Given the description of an element on the screen output the (x, y) to click on. 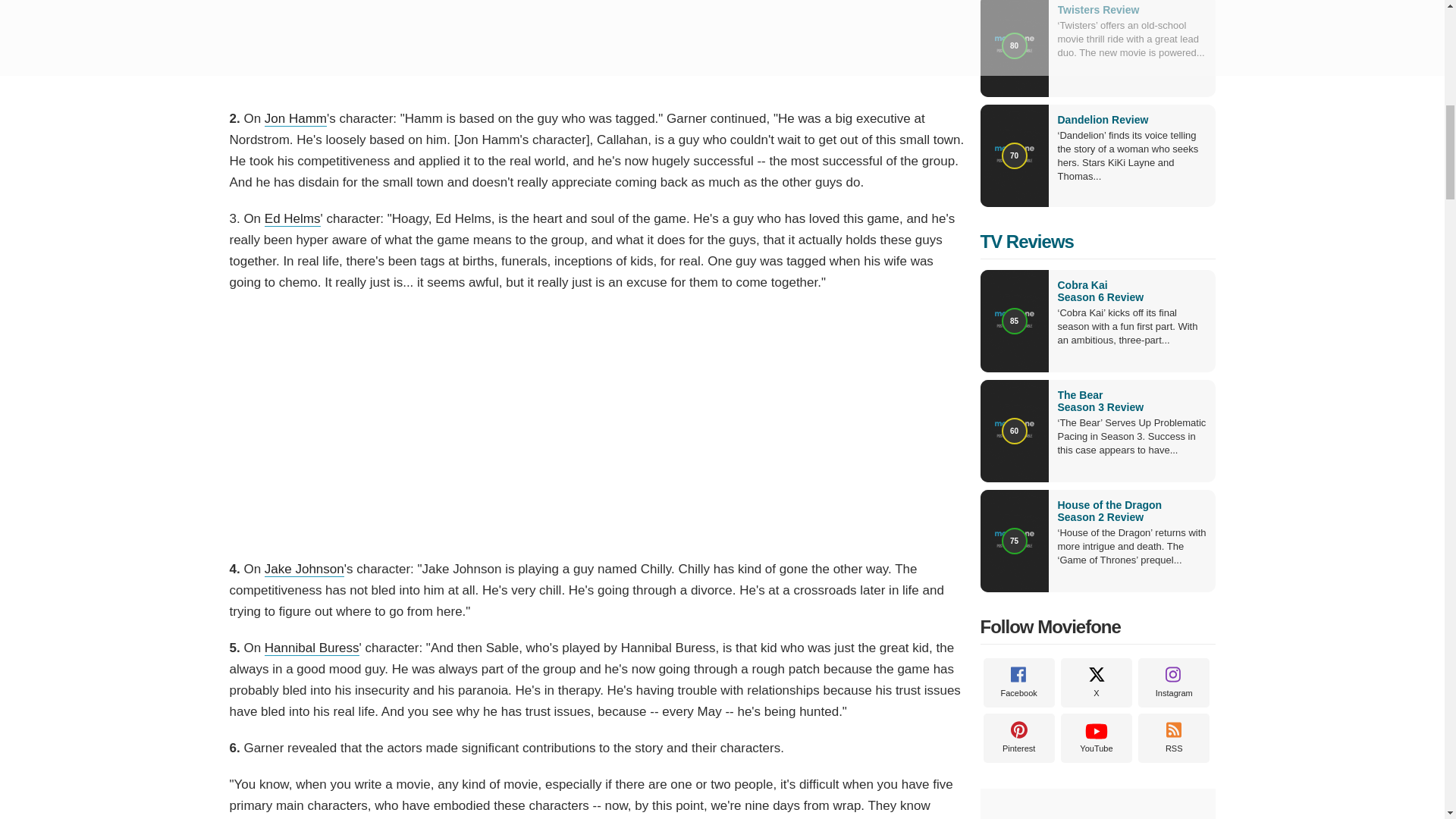
House of the Dragon movie (1132, 510)
The Bear movie (1132, 401)
Follow Moviefone on Facebook (1018, 682)
Cobra Kai movie (1132, 291)
Dandelion movie (1102, 119)
Link to us (1173, 737)
Follow Moviefone on Instagram (1173, 682)
Subscribe to Moviefone on YouTube (1096, 737)
Follow Moviefone on X (1096, 682)
Follow Moviefone on Pinterest (1018, 737)
Twisters movie (1097, 9)
